Given the description of an element on the screen output the (x, y) to click on. 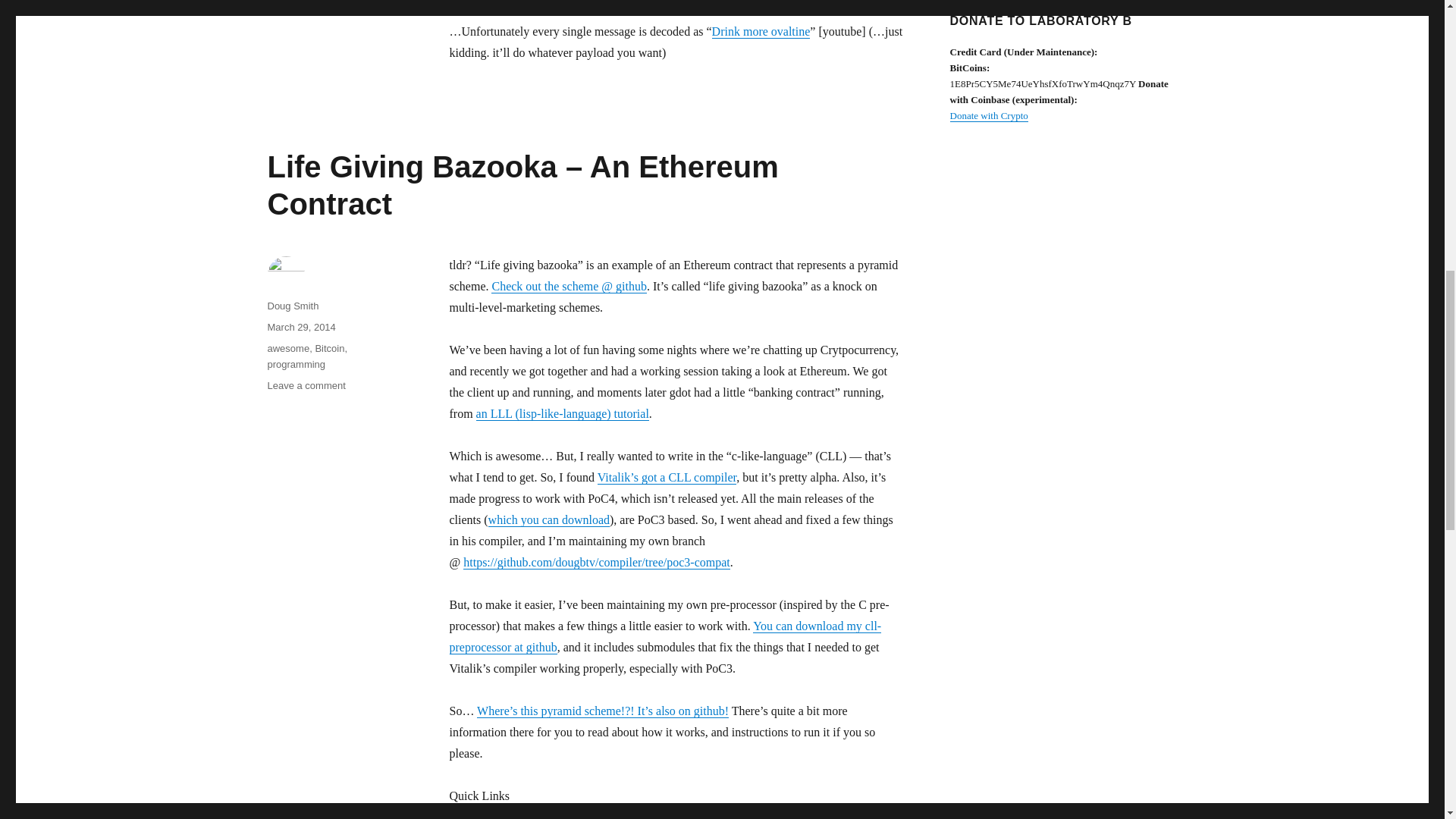
Doug Smith (292, 306)
You can download my cll-preprocessor at github (664, 636)
which you can download (548, 519)
Drink more ovaltine (760, 31)
March 29, 2014 (300, 326)
